Given the description of an element on the screen output the (x, y) to click on. 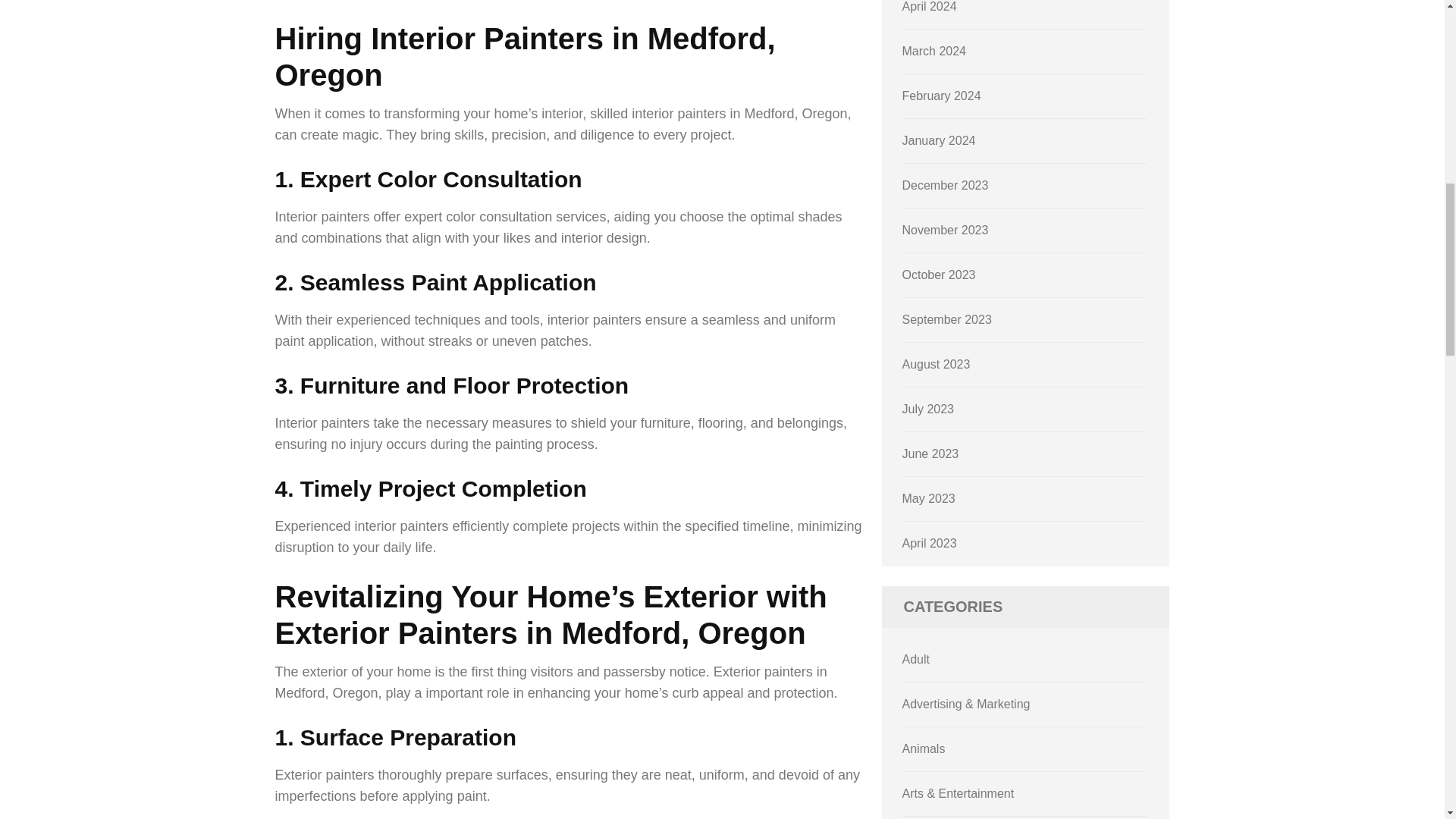
March 2024 (934, 51)
July 2023 (928, 408)
August 2023 (936, 364)
April 2023 (929, 543)
September 2023 (946, 318)
Adult (916, 658)
October 2023 (938, 274)
Animals (923, 748)
December 2023 (945, 185)
November 2023 (945, 229)
January 2024 (938, 140)
June 2023 (930, 453)
February 2024 (941, 95)
May 2023 (928, 498)
April 2024 (929, 6)
